Given the description of an element on the screen output the (x, y) to click on. 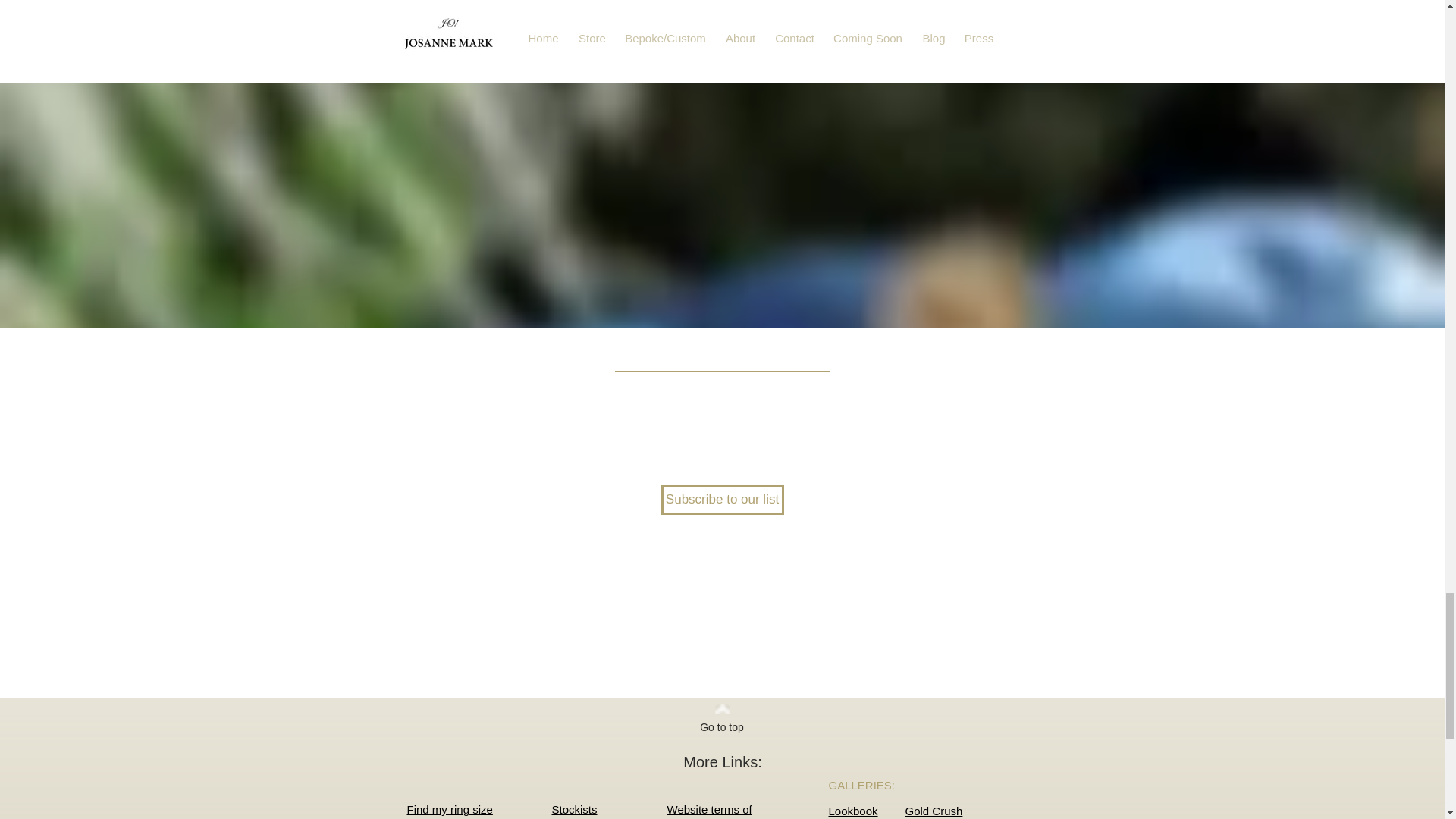
GALLERIES: (861, 784)
Go to top (721, 727)
Stockists (709, 811)
Find my ring size (573, 809)
Subscribe to our list (449, 809)
